Given the description of an element on the screen output the (x, y) to click on. 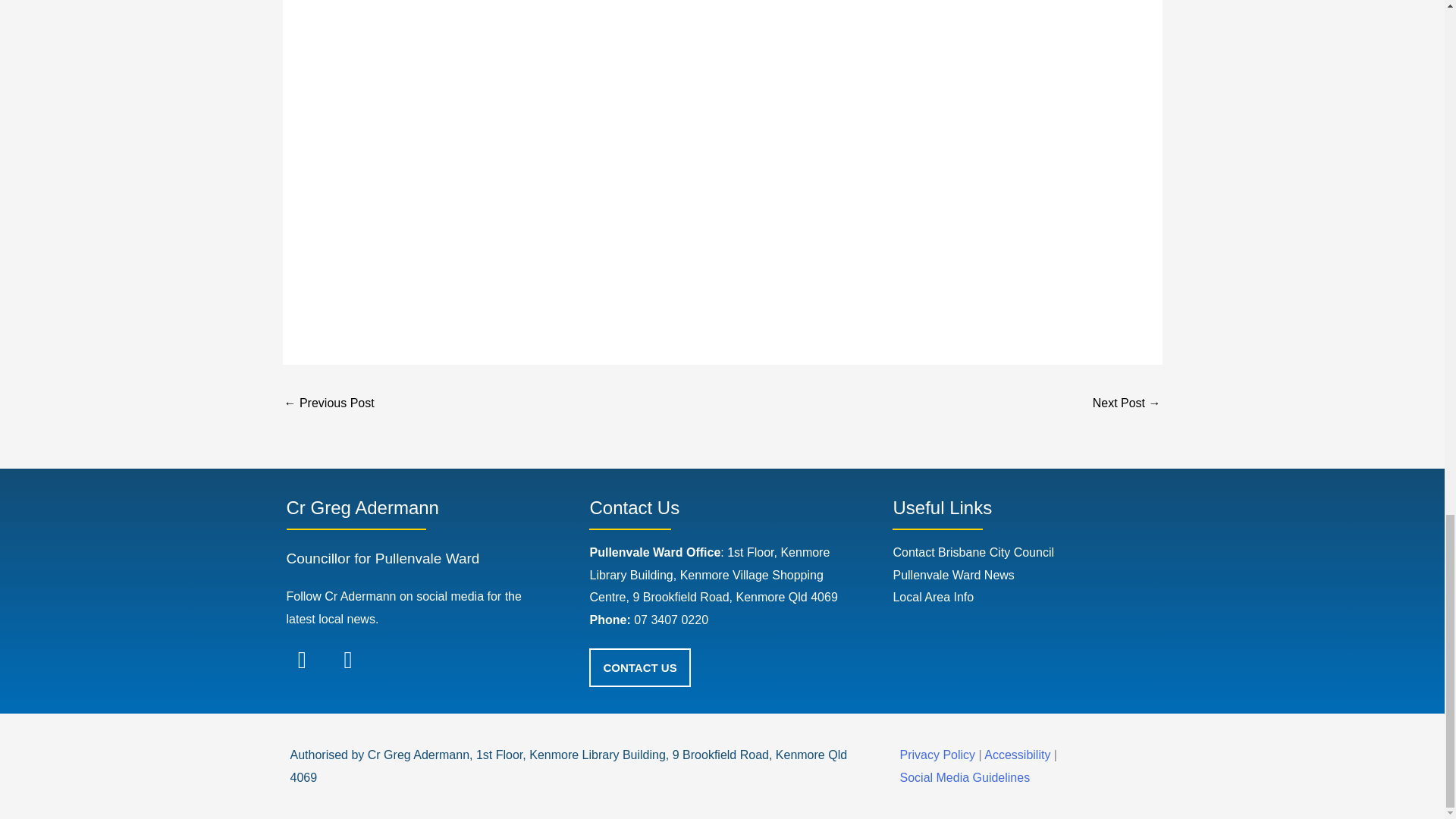
Pullenvale Ward News (952, 574)
Contact Brisbane City Council (973, 552)
BROOKFIELD ROAD PETITION (328, 404)
Accessibility (1019, 754)
CONTACT US (639, 667)
UPGRADED PARKS AT BELLBOWRIE (1126, 404)
Privacy Policy (937, 754)
Facebook (302, 659)
Local Area Info (933, 596)
